Given the description of an element on the screen output the (x, y) to click on. 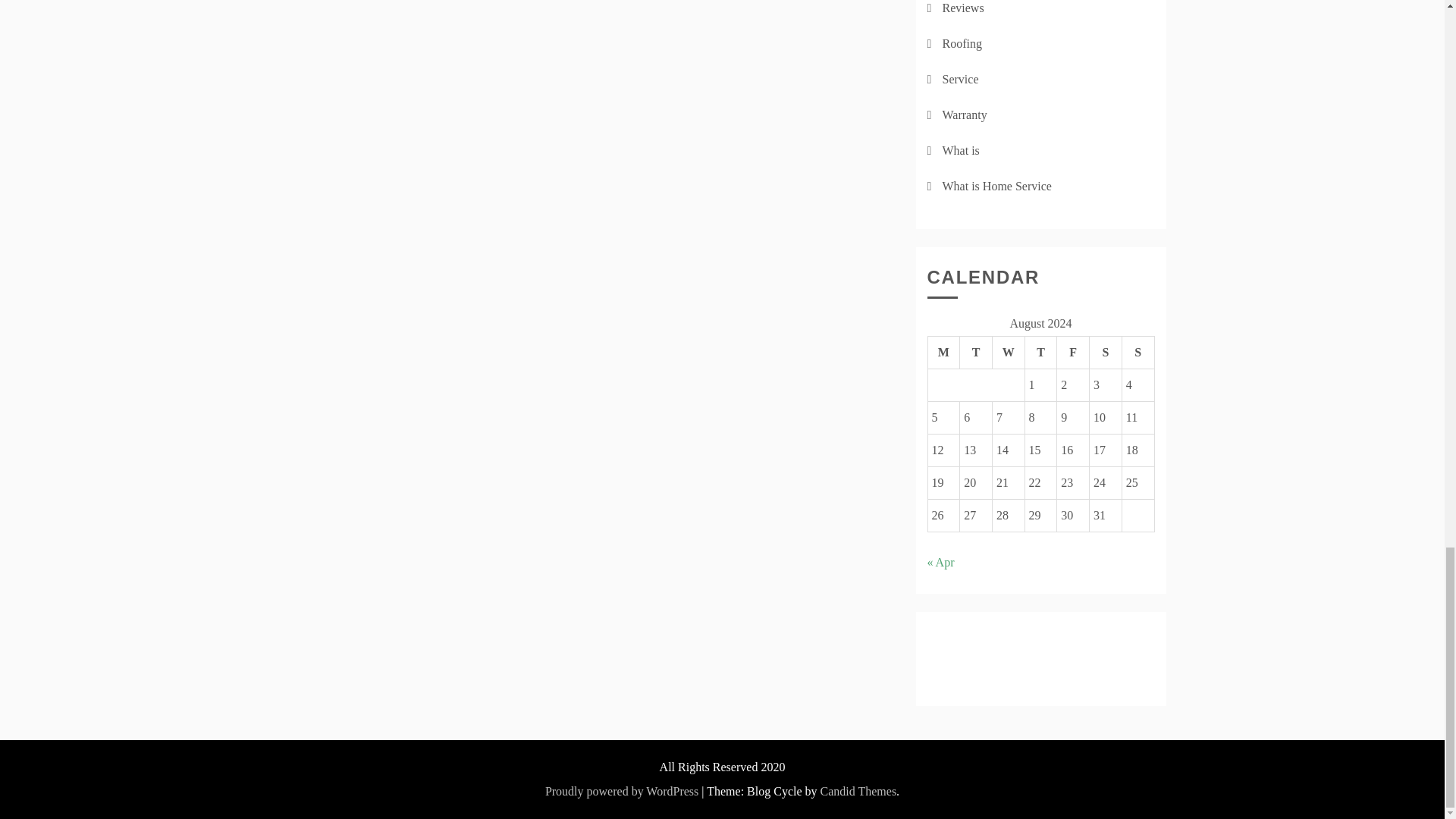
Sunday (1137, 351)
Friday (1073, 351)
Tuesday (975, 351)
Wednesday (1008, 351)
Thursday (1041, 351)
Monday (943, 351)
Saturday (1105, 351)
